Given the description of an element on the screen output the (x, y) to click on. 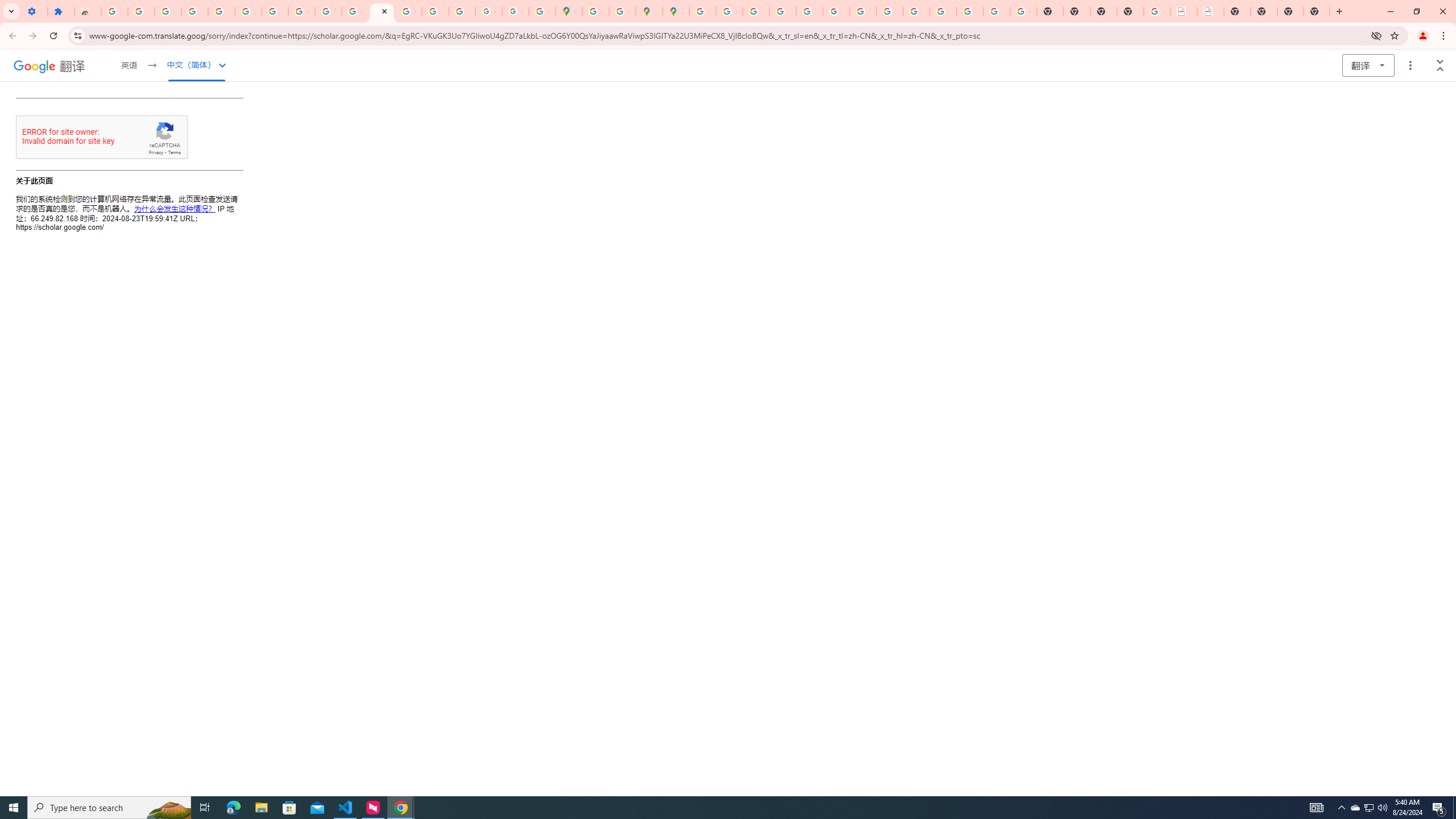
Reviews: Helix Fruit Jump Arcade Game (87, 11)
Sign in - Google Accounts (114, 11)
New Tab (1316, 11)
Google Images (1023, 11)
Google (34, 65)
Settings - On startup (34, 11)
